Given the description of an element on the screen output the (x, y) to click on. 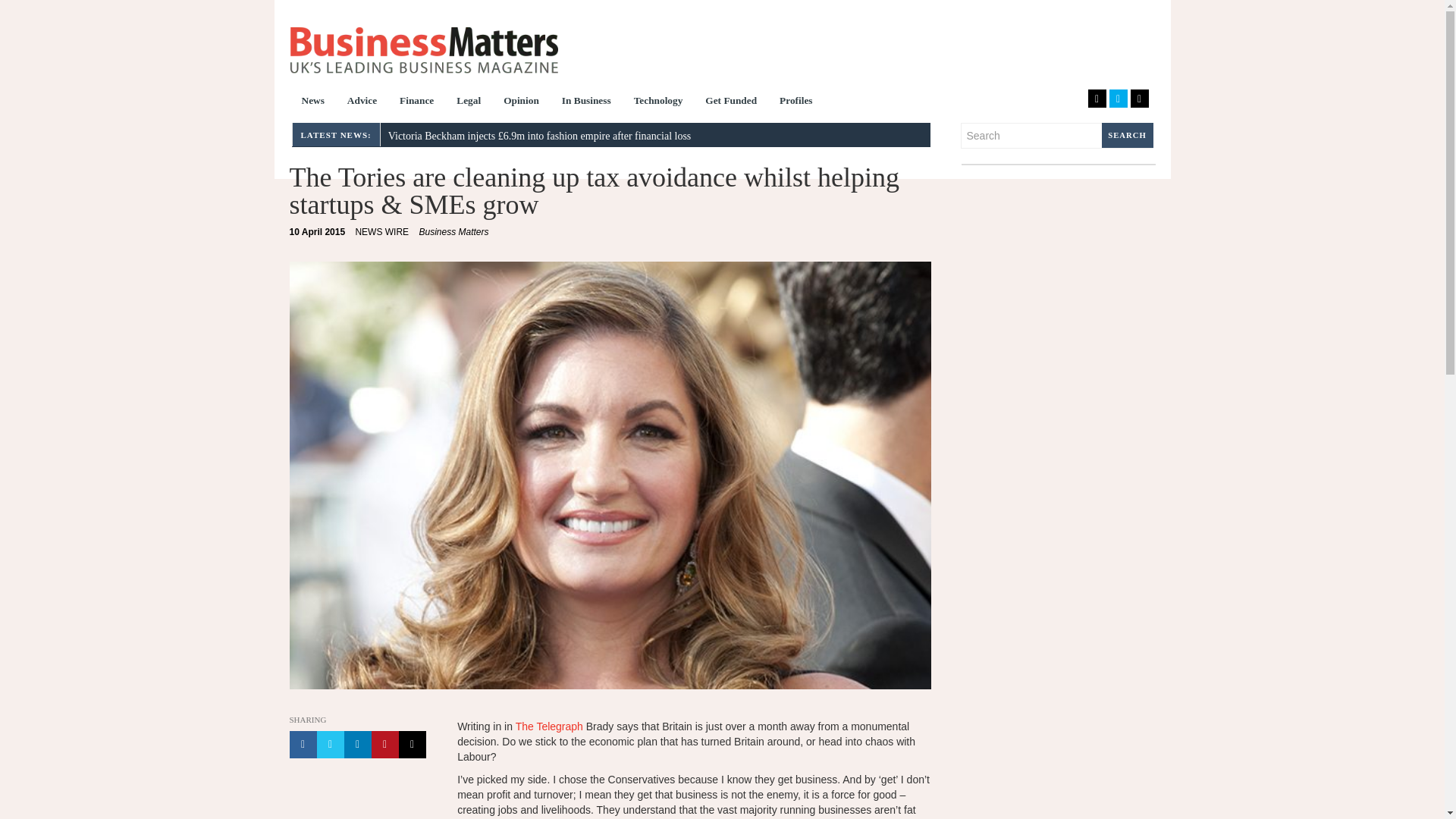
Get Funded (317, 231)
Technology (731, 101)
Advice (658, 101)
Business Matters (362, 101)
Legal (423, 50)
Finance (468, 101)
The Telegraph (416, 101)
Opinion (549, 726)
News (521, 101)
